Given the description of an element on the screen output the (x, y) to click on. 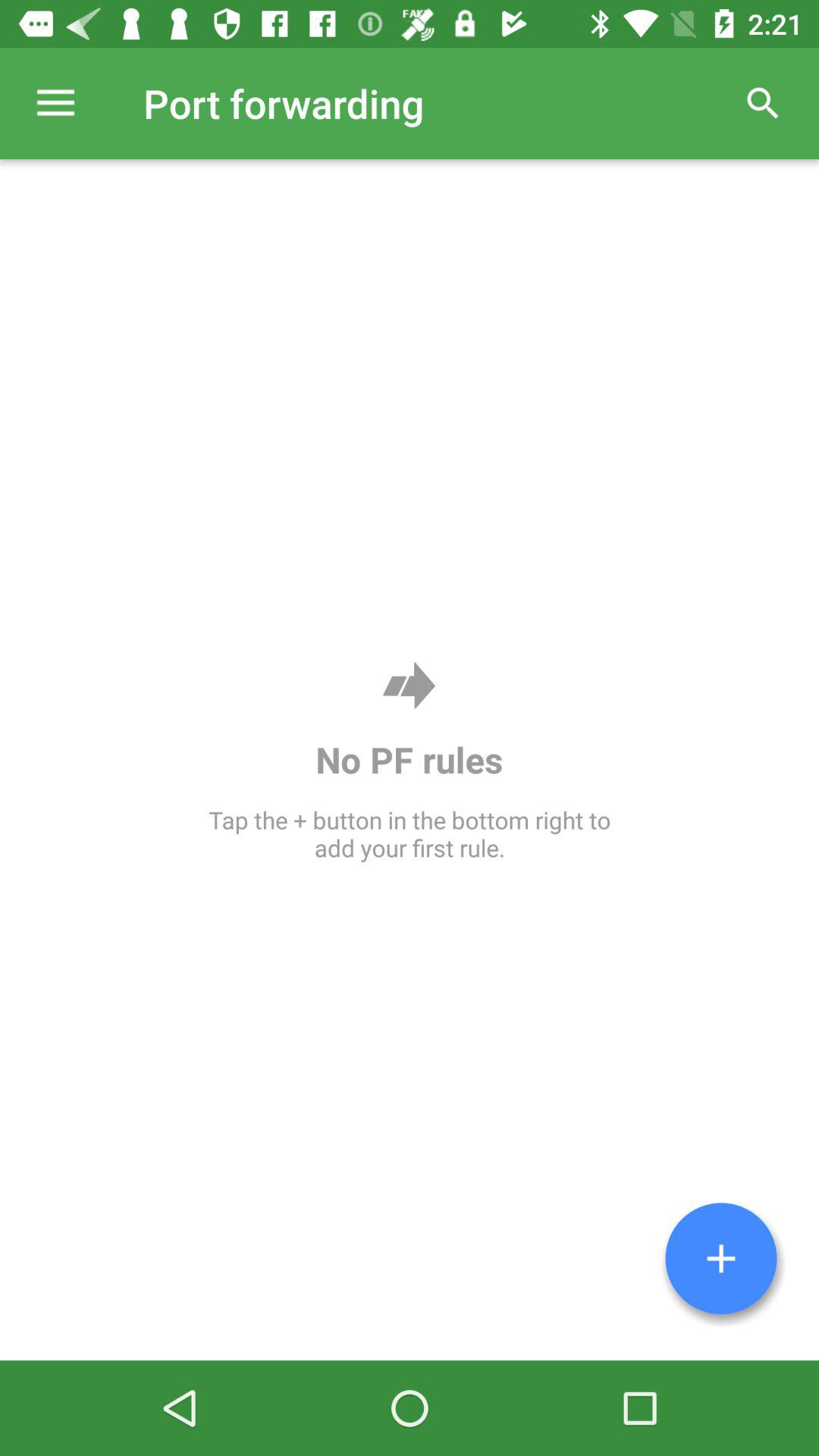
select item next to the port forwarding (55, 103)
